Given the description of an element on the screen output the (x, y) to click on. 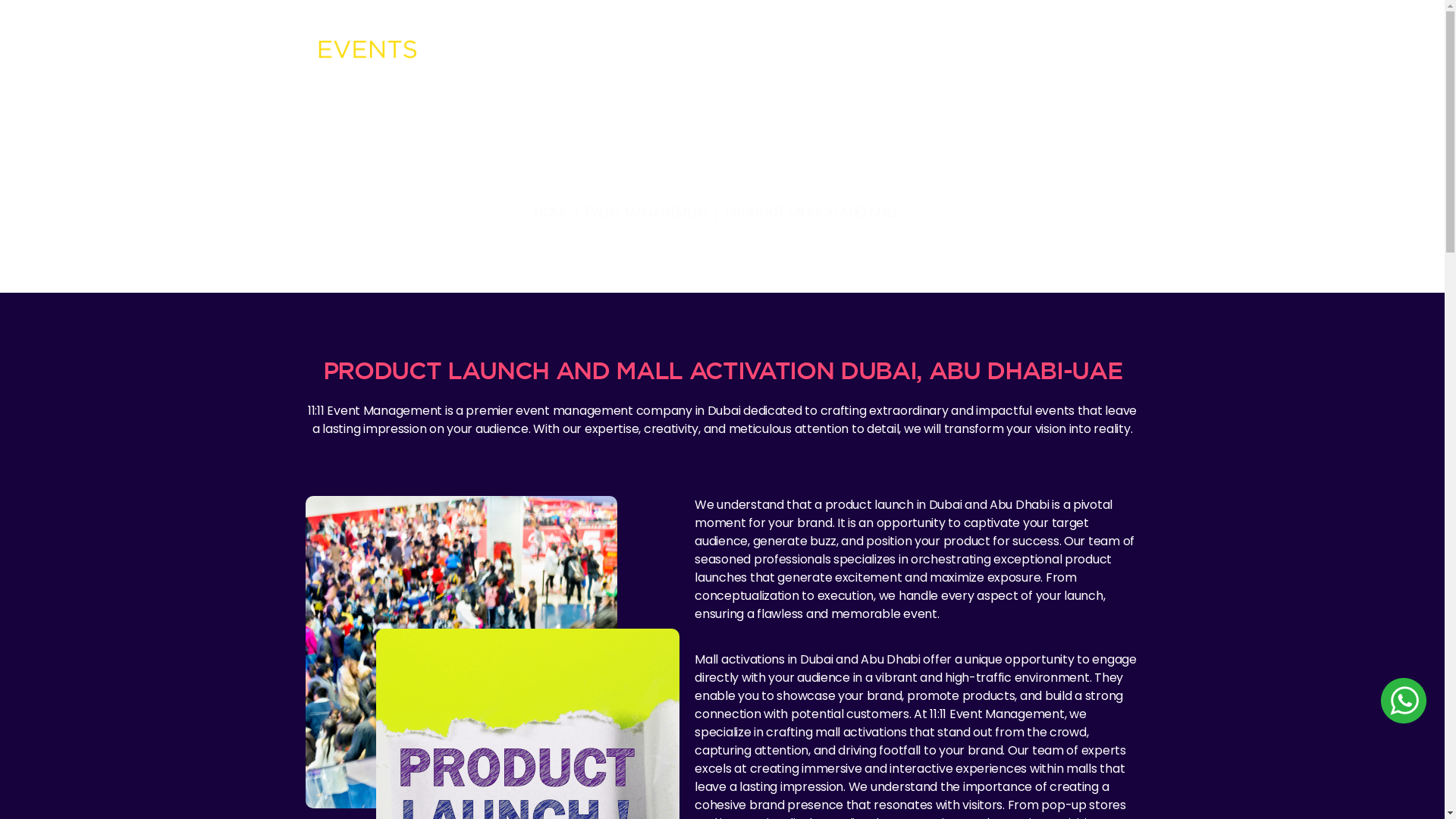
Equipment Rental Element type: text (749, 49)
Contact Us Element type: text (996, 49)
+971 54 252 0849 Element type: text (1028, 19)
HOME Element type: text (551, 212)
+971 50 495 5852 Element type: text (930, 19)
Our Work Element type: text (1063, 49)
Event Management Element type: text (625, 49)
About Us Element type: text (531, 49)
Get In Touch Element type: text (1133, 49)
EVENT MANAGEMENT Element type: text (647, 212)
Film Production/ Equipment Element type: text (884, 49)
Home Element type: text (479, 49)
info@11-11av.com Element type: text (1127, 19)
